Given the description of an element on the screen output the (x, y) to click on. 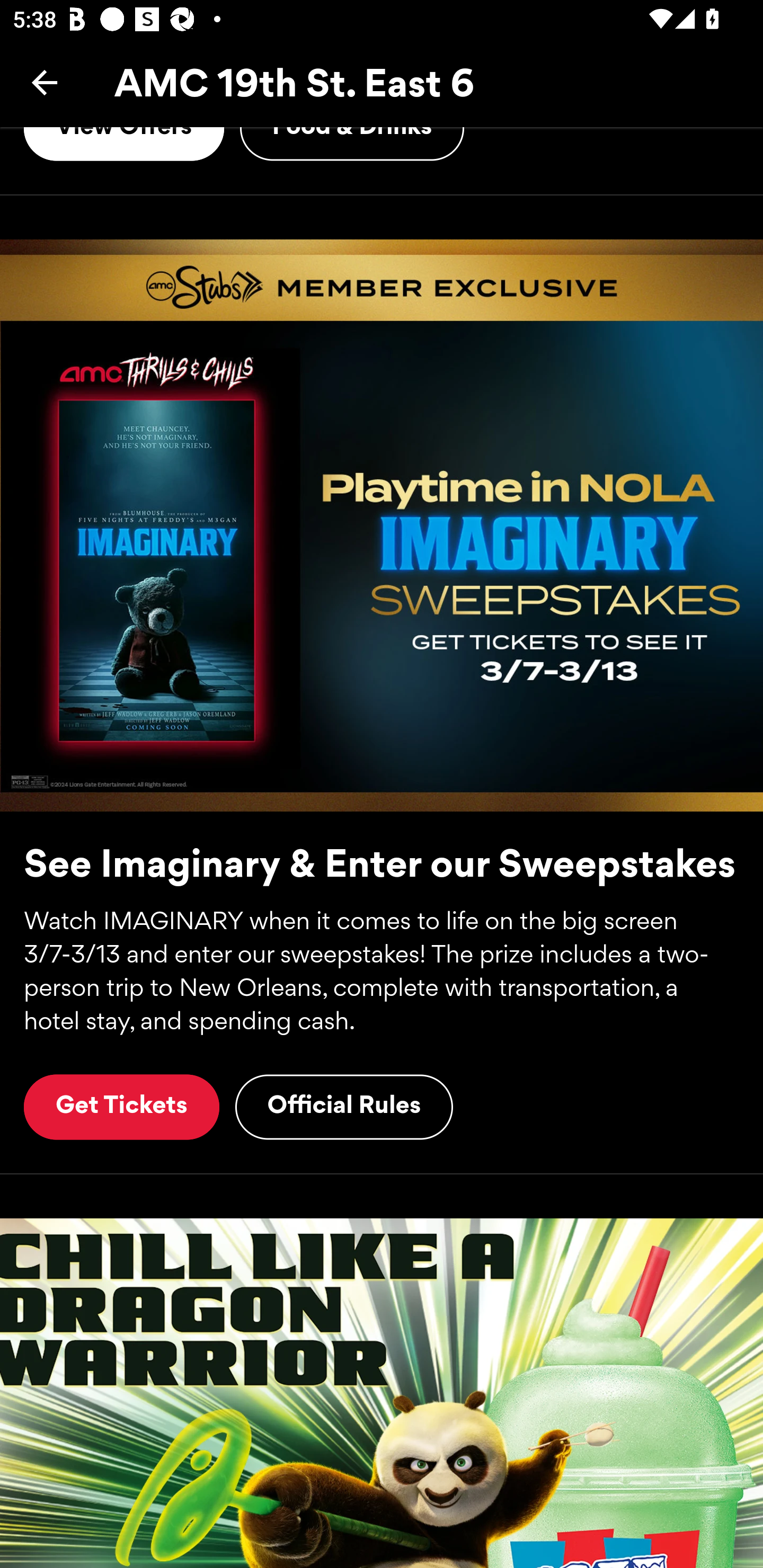
Back (44, 82)
Get Tickets (121, 1106)
Official Rules (344, 1106)
